Given the description of an element on the screen output the (x, y) to click on. 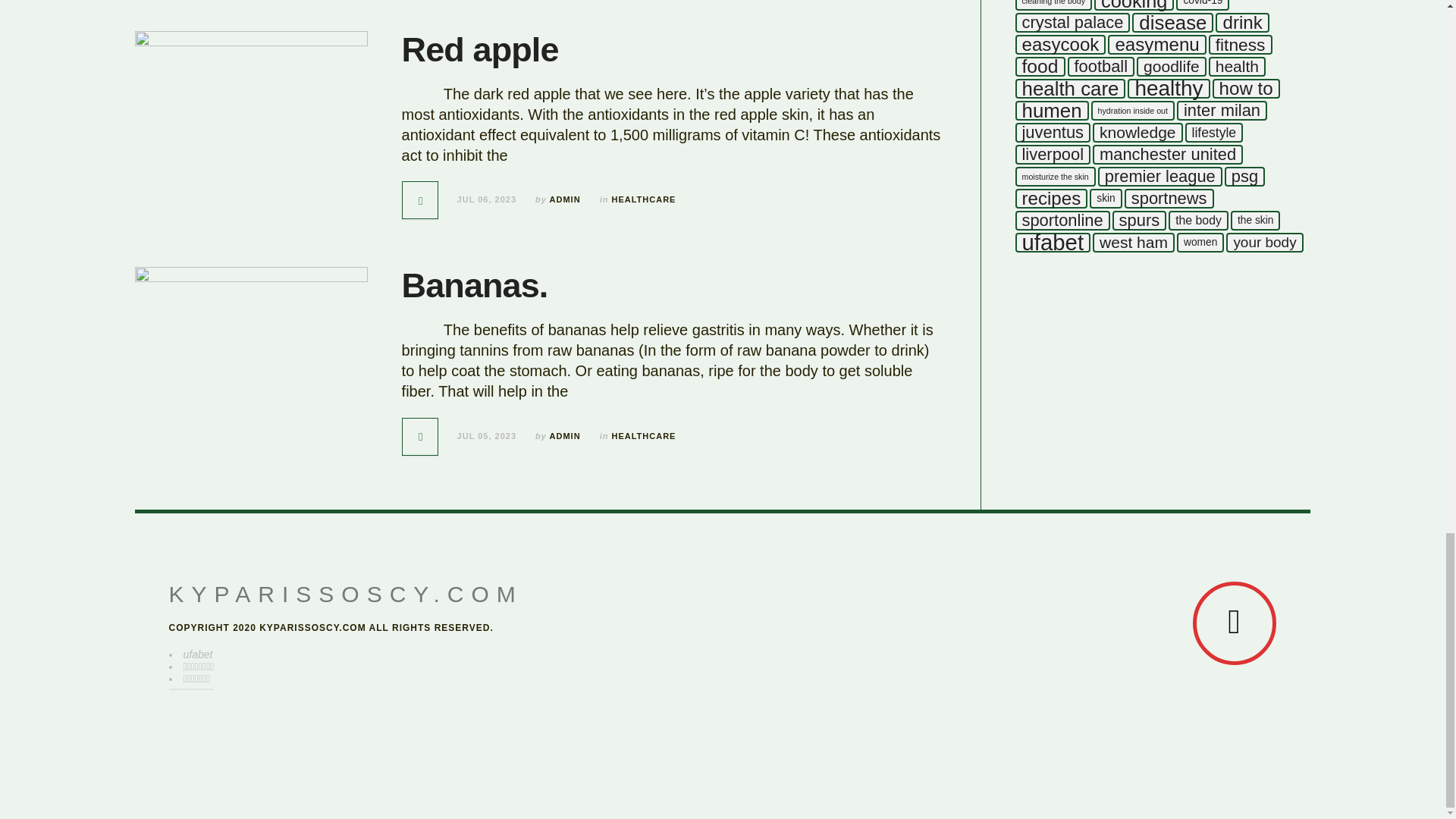
HEALTHCARE (643, 198)
HEALTHCARE (643, 435)
Red apple (480, 49)
ADMIN (565, 198)
Bananas. (474, 285)
ADMIN (565, 435)
